Given the description of an element on the screen output the (x, y) to click on. 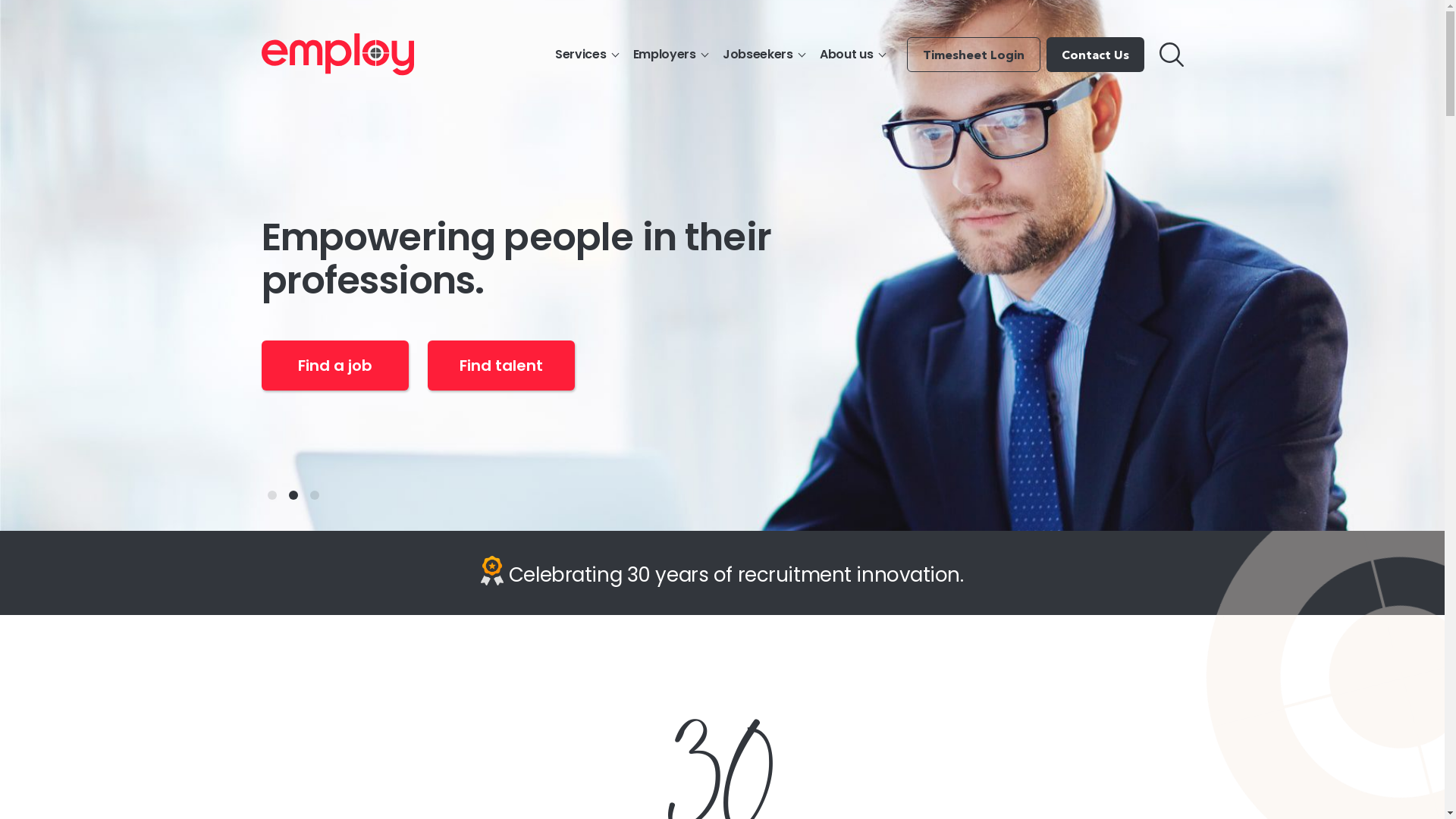
Find talent Element type: text (500, 365)
Employers Element type: text (670, 54)
Contact Us Element type: text (1095, 54)
Find a job Element type: text (333, 365)
Timesheet Login Element type: text (973, 54)
Jobseekers Element type: text (763, 54)
About us Element type: text (851, 54)
Services Element type: text (586, 54)
